Given the description of an element on the screen output the (x, y) to click on. 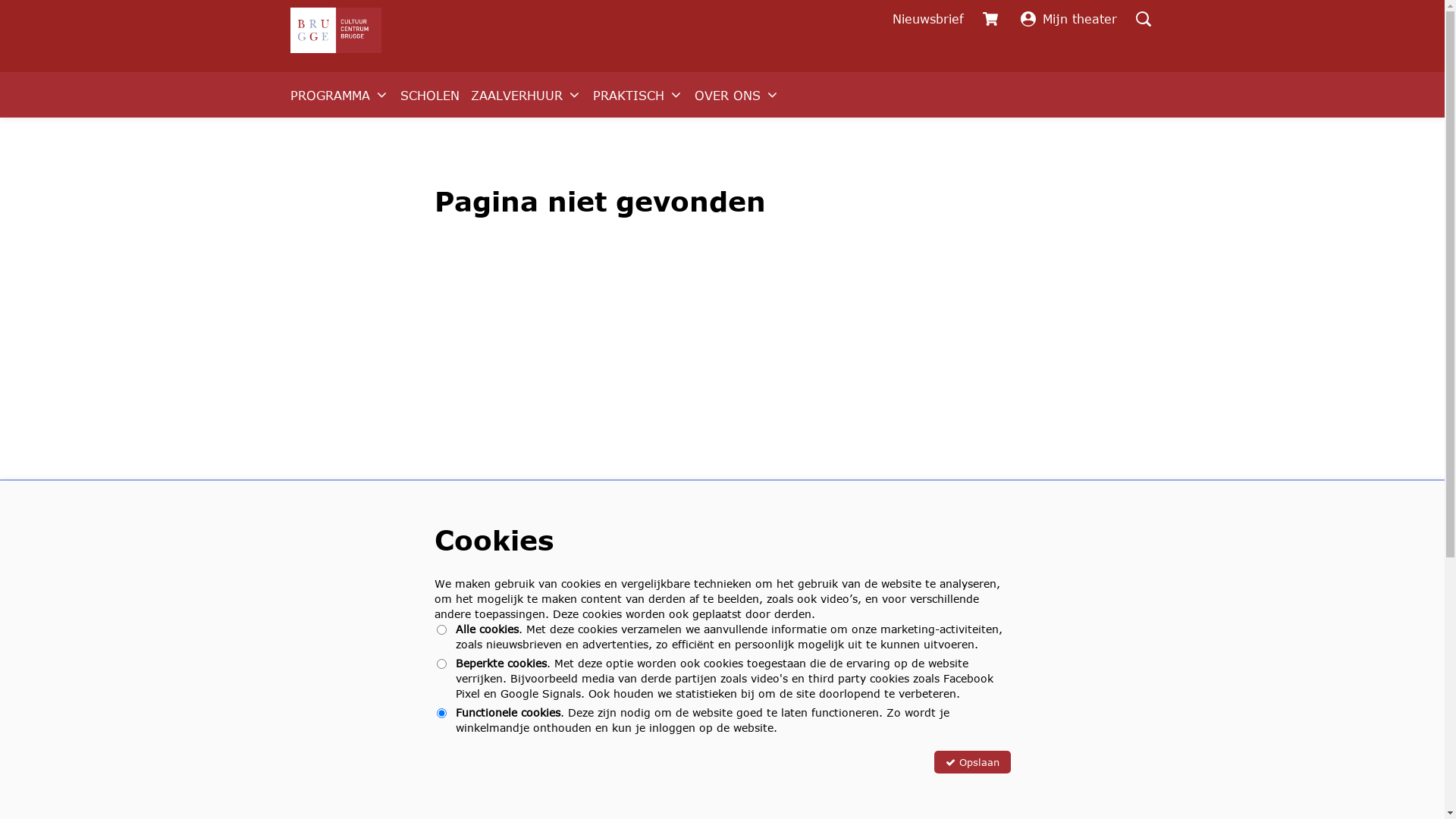
Ga naar homepage Element type: hover (334, 30)
PRAKTISCH Element type: text (638, 94)
PROGRAMMA Element type: text (338, 94)
Nieuwsbrief Element type: text (927, 18)
Mijn theater Element type: text (1068, 18)
OVER ONS Element type: text (736, 94)
SCHOLEN Element type: text (429, 94)
ZAALVERHUUR Element type: text (525, 94)
Opslaan Element type: text (972, 761)
